Given the description of an element on the screen output the (x, y) to click on. 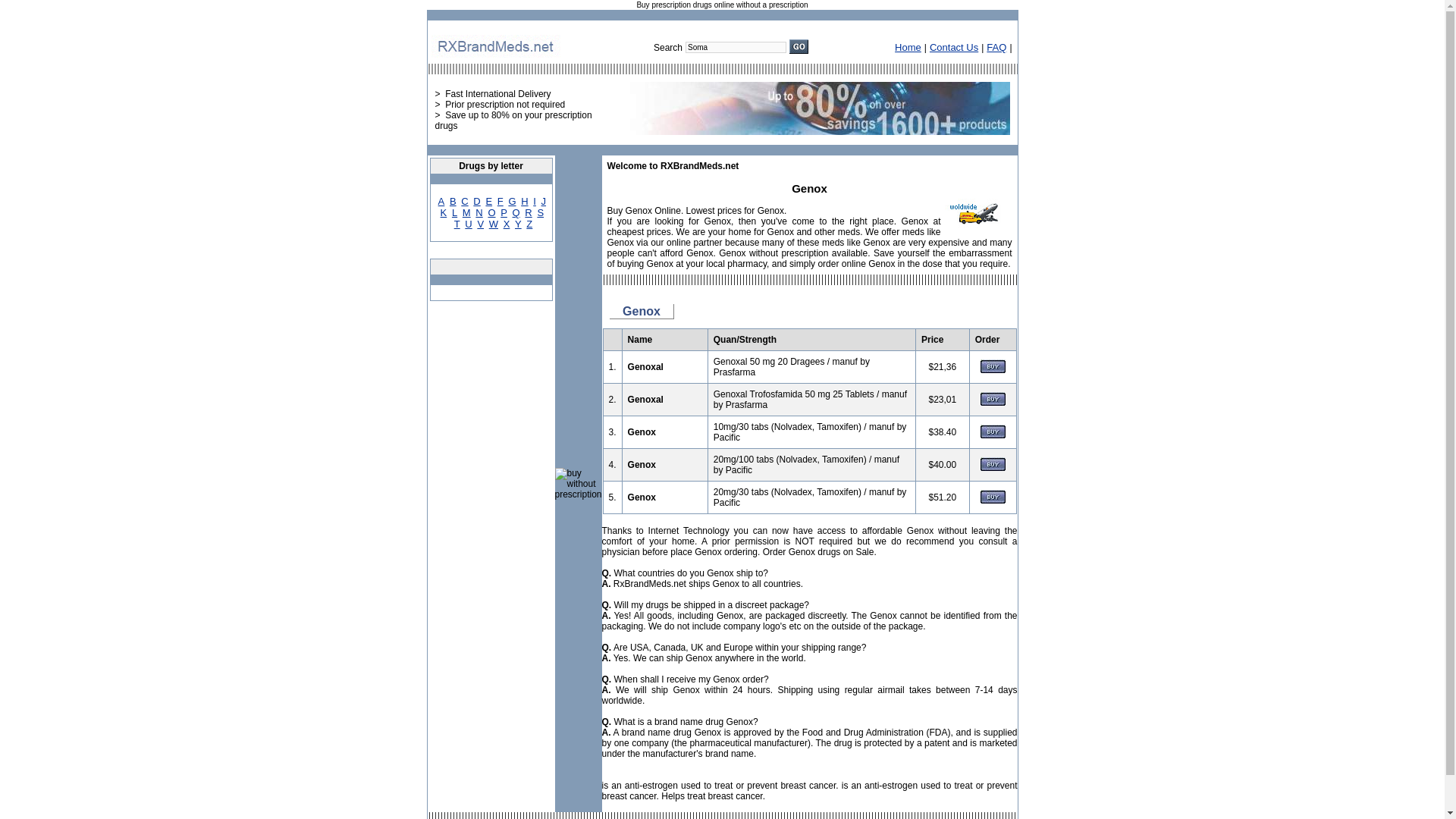
FAQ (996, 47)
Soma (735, 47)
Home (908, 47)
Contact Us (954, 47)
